Given the description of an element on the screen output the (x, y) to click on. 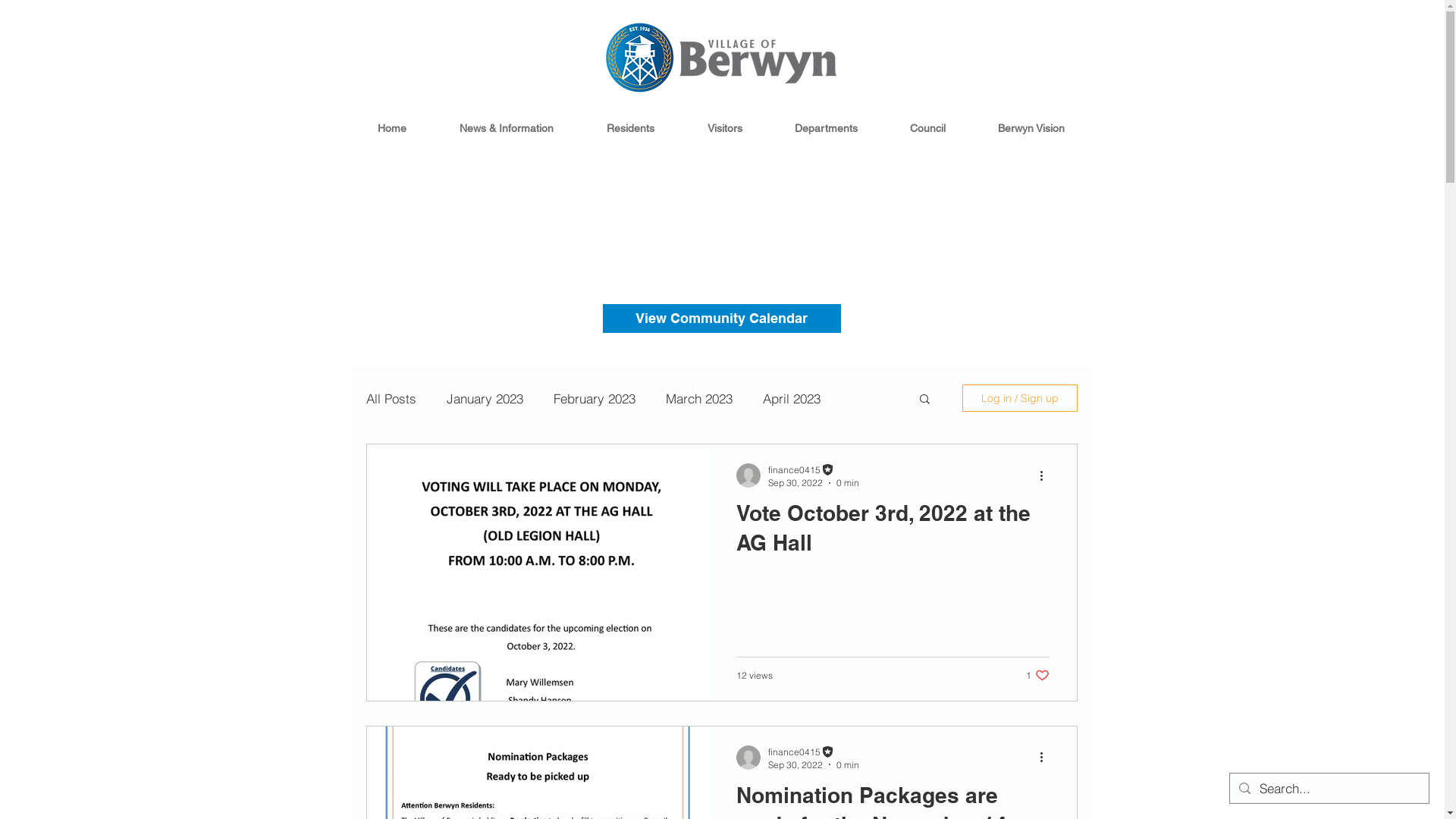
News & Information Element type: text (505, 128)
1 like. Post not marked as liked
1 Element type: text (1036, 675)
Log in / Sign up Element type: text (1018, 397)
March 2023 Element type: text (698, 397)
February 2023 Element type: text (594, 397)
January 2023 Element type: text (483, 397)
Home Element type: text (391, 128)
Vote October 3rd, 2022 at the AG Hall Element type: text (891, 531)
All Posts Element type: text (390, 397)
View Community Calendar Element type: text (721, 318)
April 2023 Element type: text (791, 397)
